Given the description of an element on the screen output the (x, y) to click on. 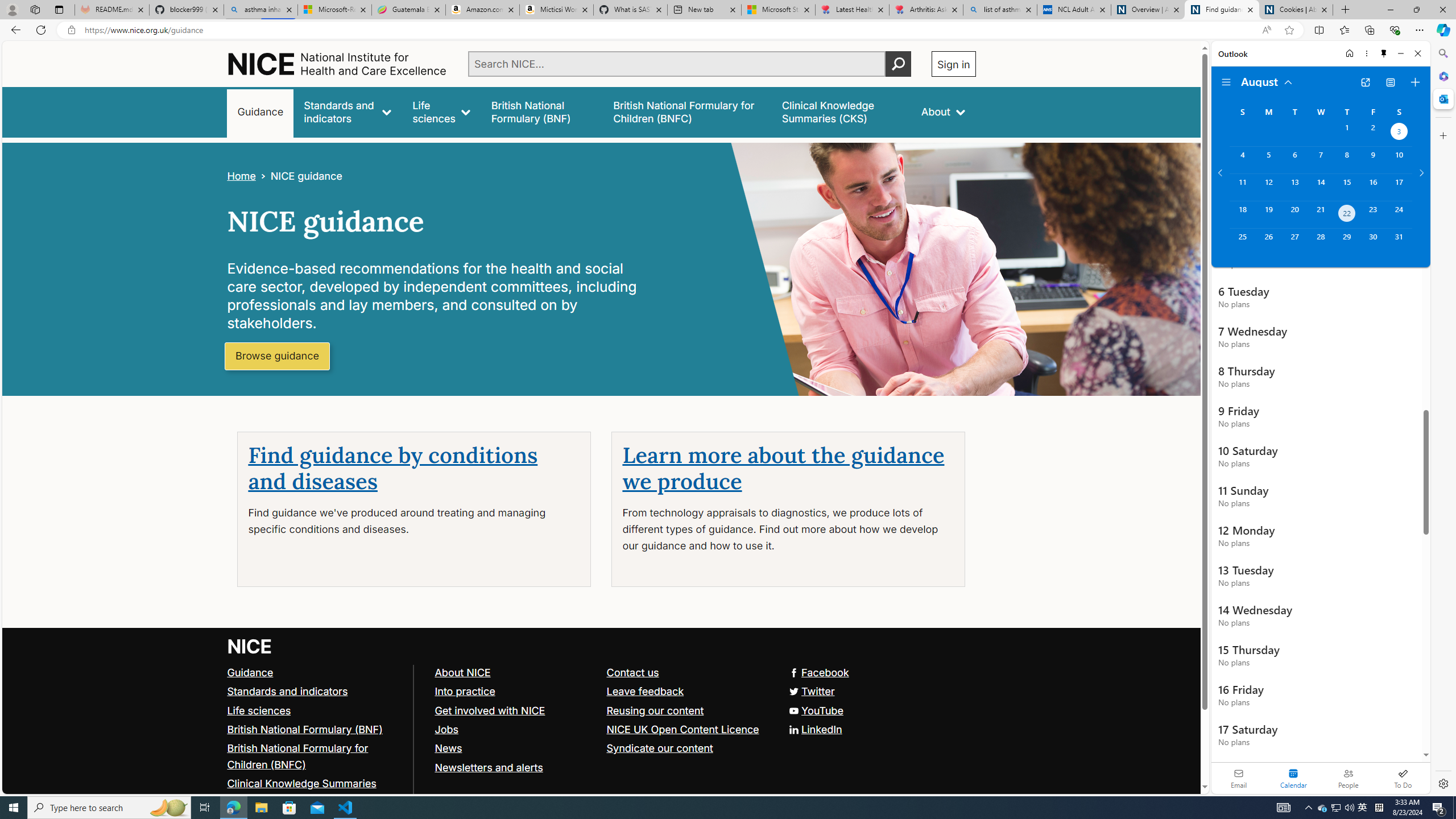
Find guidance | NICE (1221, 9)
Life sciences (440, 111)
Tuesday, August 20, 2024.  (1294, 214)
Wednesday, August 14, 2024.  (1320, 186)
Find guidance by conditions and diseases (392, 468)
Thursday, August 8, 2024.  (1346, 159)
About NICE (514, 672)
